Given the description of an element on the screen output the (x, y) to click on. 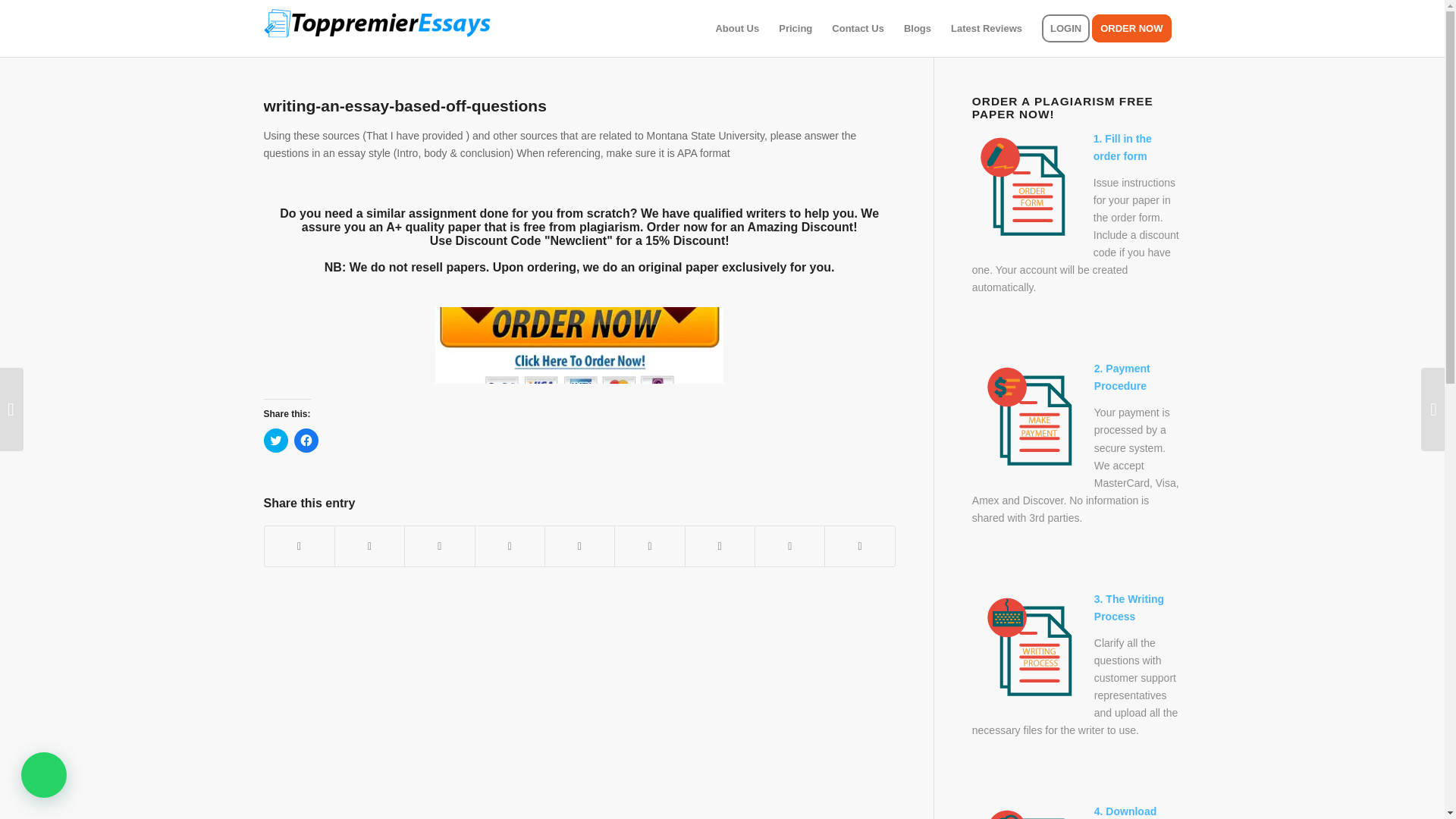
Latest Reviews (986, 28)
LOGIN (1065, 28)
ORDER NOW (1136, 28)
Click to share on Facebook (306, 440)
Contact Us (857, 28)
writing-an-essay-based-off-questions (405, 105)
Permanent Link: writing-an-essay-based-off-questions (405, 105)
About Us (736, 28)
Pricing (795, 28)
Click to share on Twitter (275, 440)
